Given the description of an element on the screen output the (x, y) to click on. 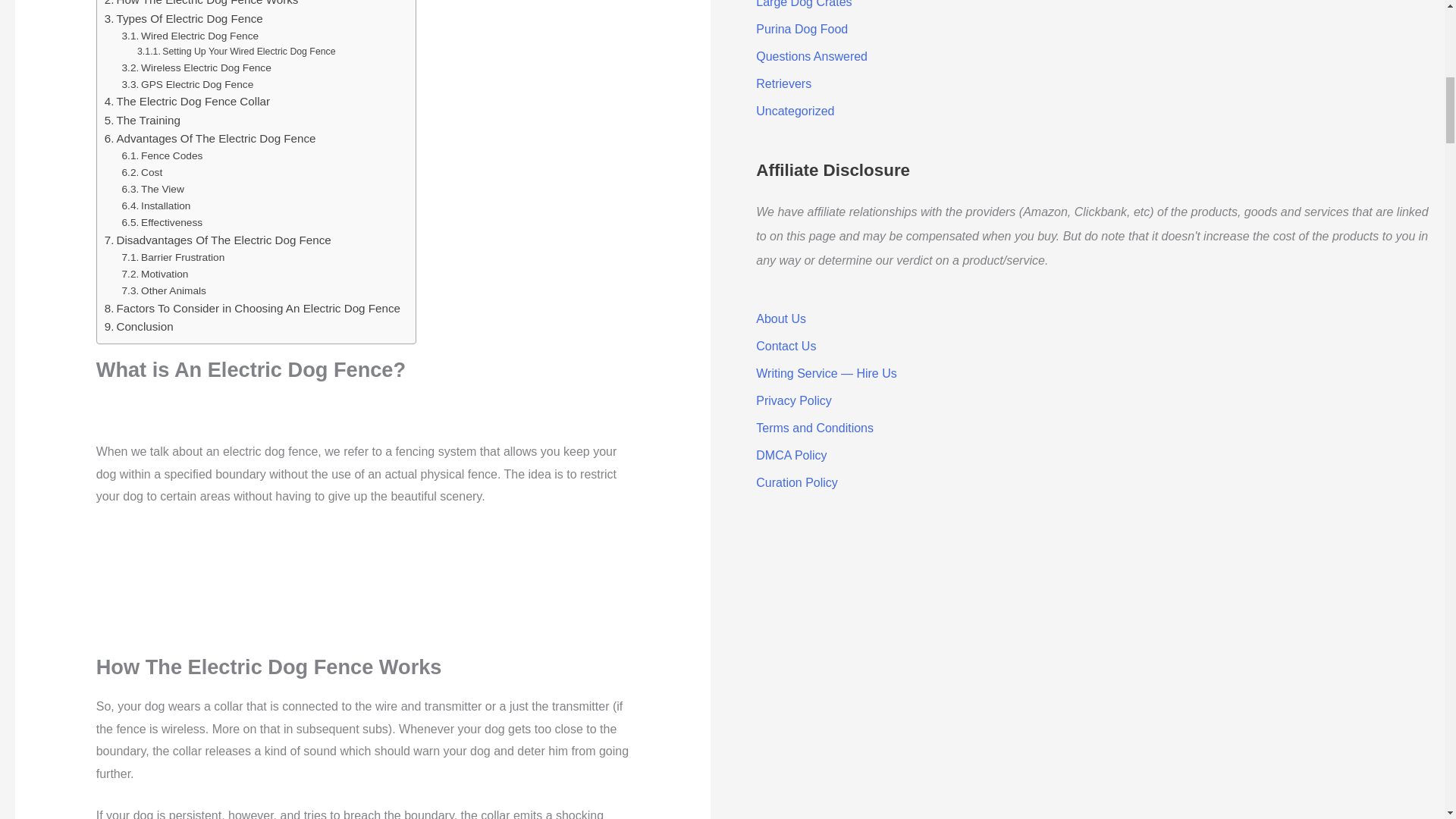
Cost (142, 172)
Wired Electric Dog Fence (190, 36)
GPS Electric Dog Fence (187, 84)
How The Electric Dog Fence Works (201, 4)
Setting Up Your Wired Electric Dog Fence (236, 52)
The Training (142, 120)
Types Of Electric Dog Fence (183, 18)
Wireless Electric Dog Fence (196, 67)
Fence Codes (162, 156)
Advantages Of The Electric Dog Fence (209, 138)
